Given the description of an element on the screen output the (x, y) to click on. 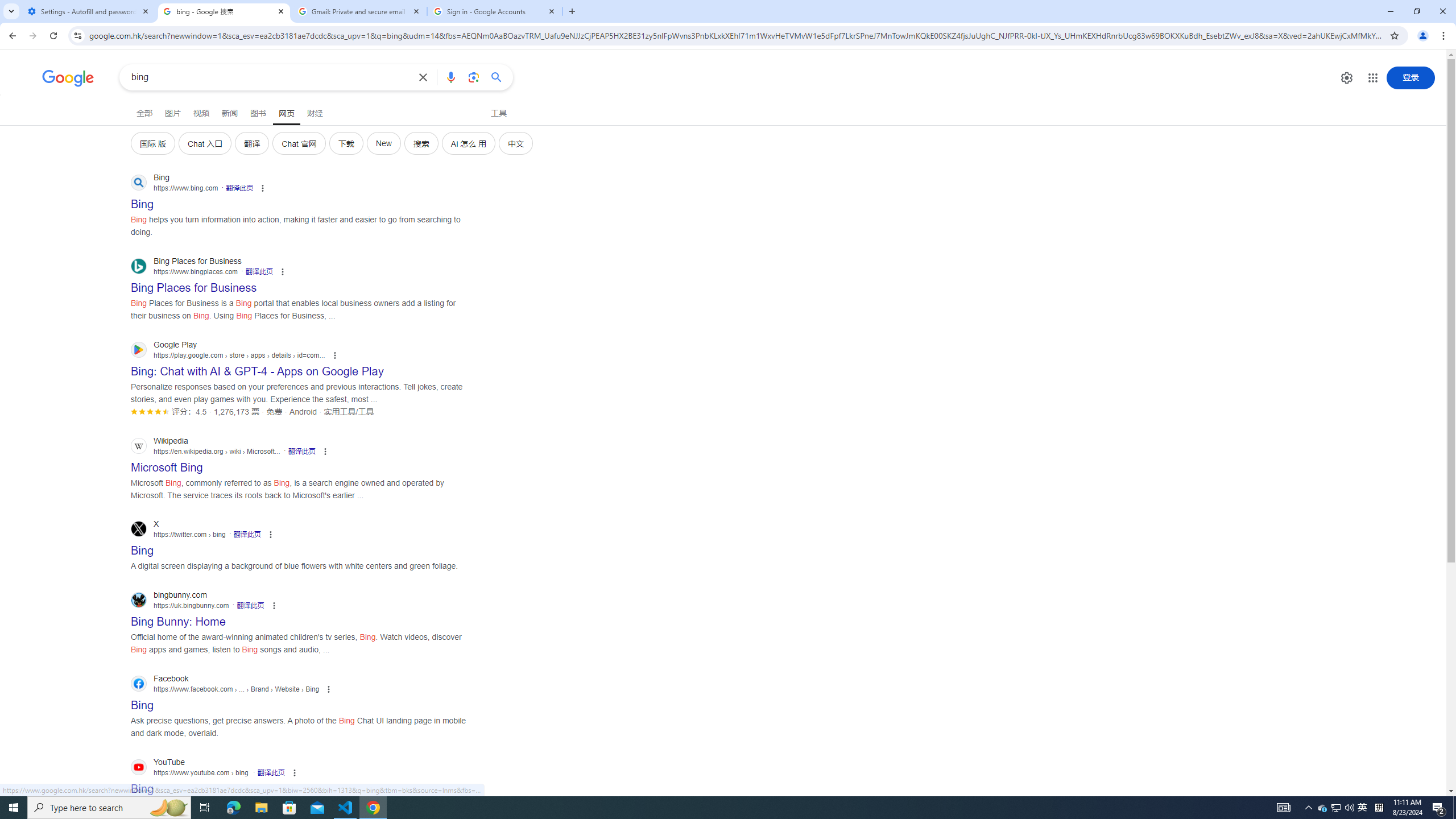
 Bing Bing https://www.bing.com (142, 200)
